Given the description of an element on the screen output the (x, y) to click on. 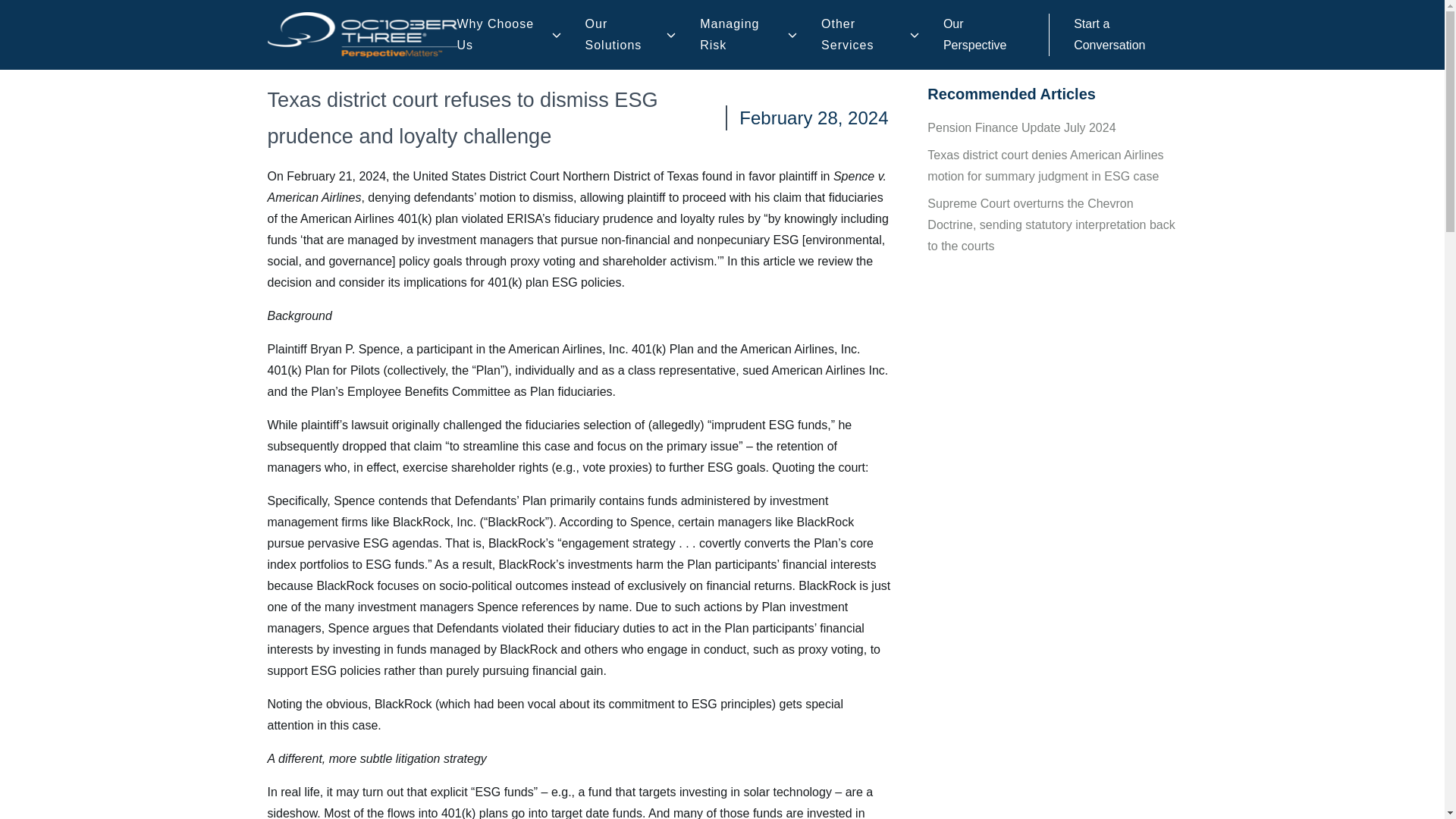
Why Choose Us (502, 34)
Managing Risk (741, 34)
Pension Finance Update July 2024 (1021, 127)
Start a Conversation (1109, 34)
Our Solutions (623, 34)
Our Perspective (975, 34)
Other Services (863, 34)
